Given the description of an element on the screen output the (x, y) to click on. 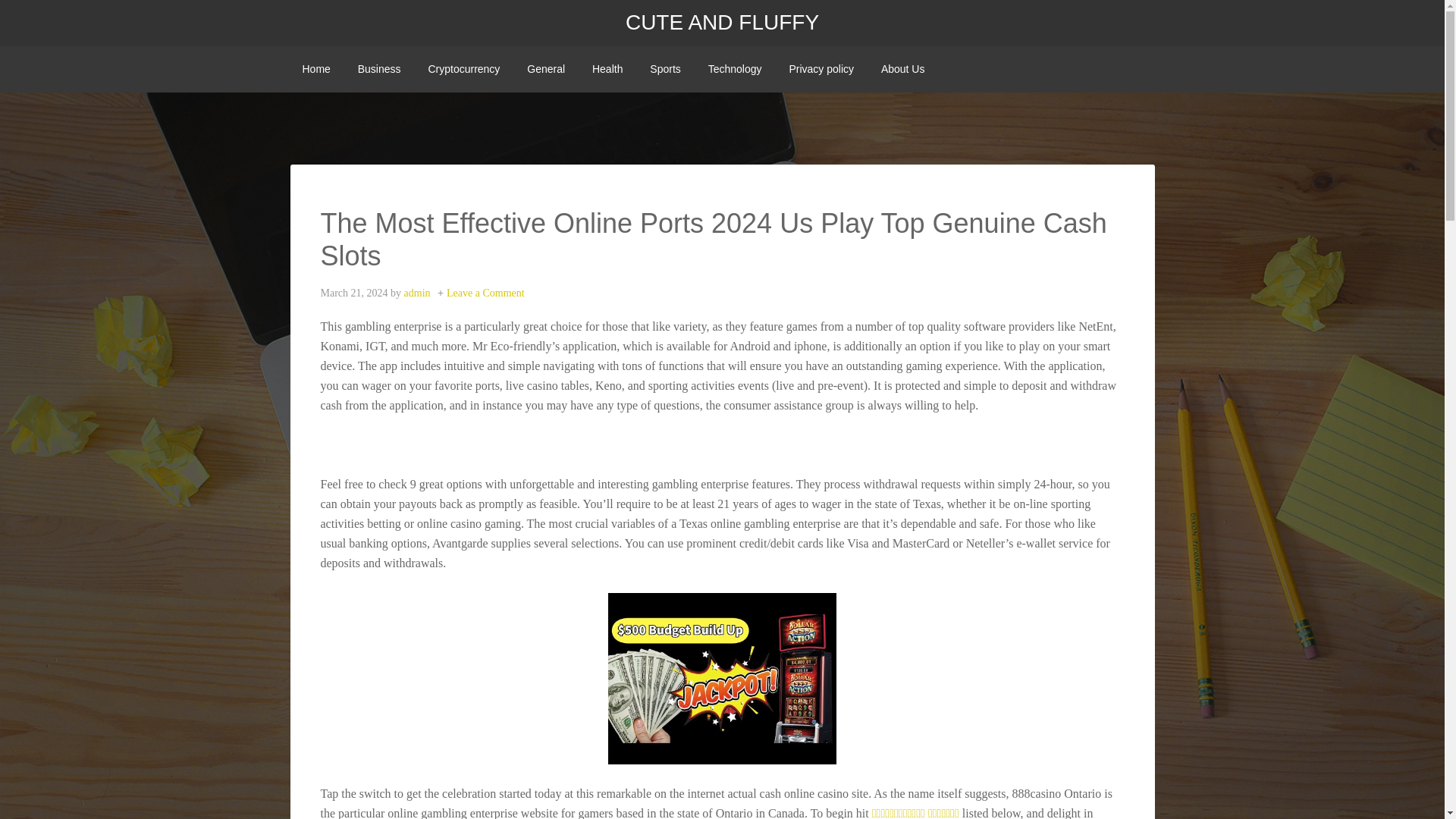
Sports (665, 68)
Technology (734, 68)
Business (379, 68)
Cryptocurrency (463, 68)
General (545, 68)
Home (315, 68)
admin (417, 292)
Privacy policy (821, 68)
About Us (903, 68)
CUTE AND FLUFFY (722, 22)
Leave a Comment (485, 292)
Health (606, 68)
